Given the description of an element on the screen output the (x, y) to click on. 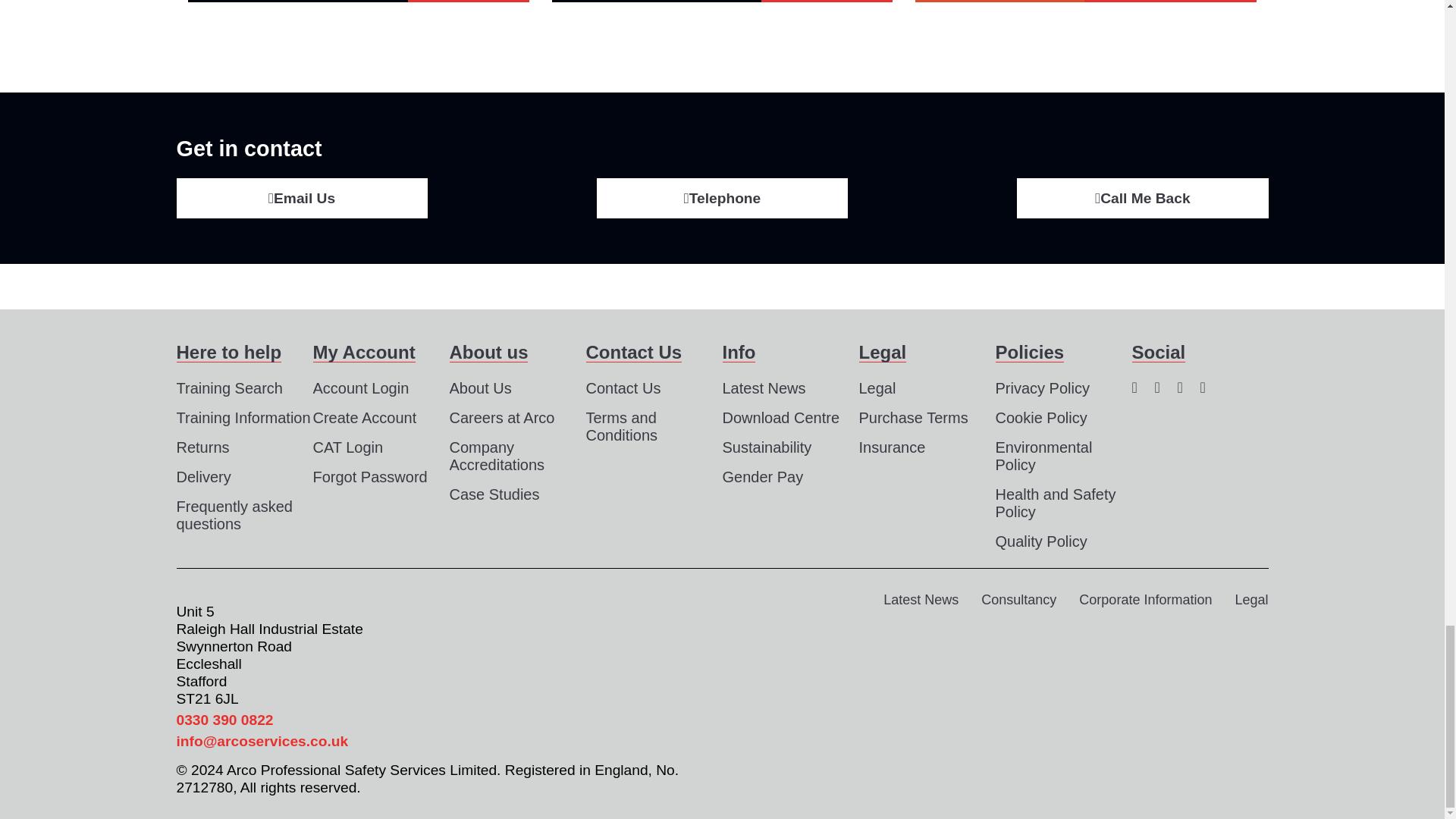
Returns (202, 447)
Training Search (229, 388)
Training Information (243, 418)
Delivery (203, 477)
